Given the description of an element on the screen output the (x, y) to click on. 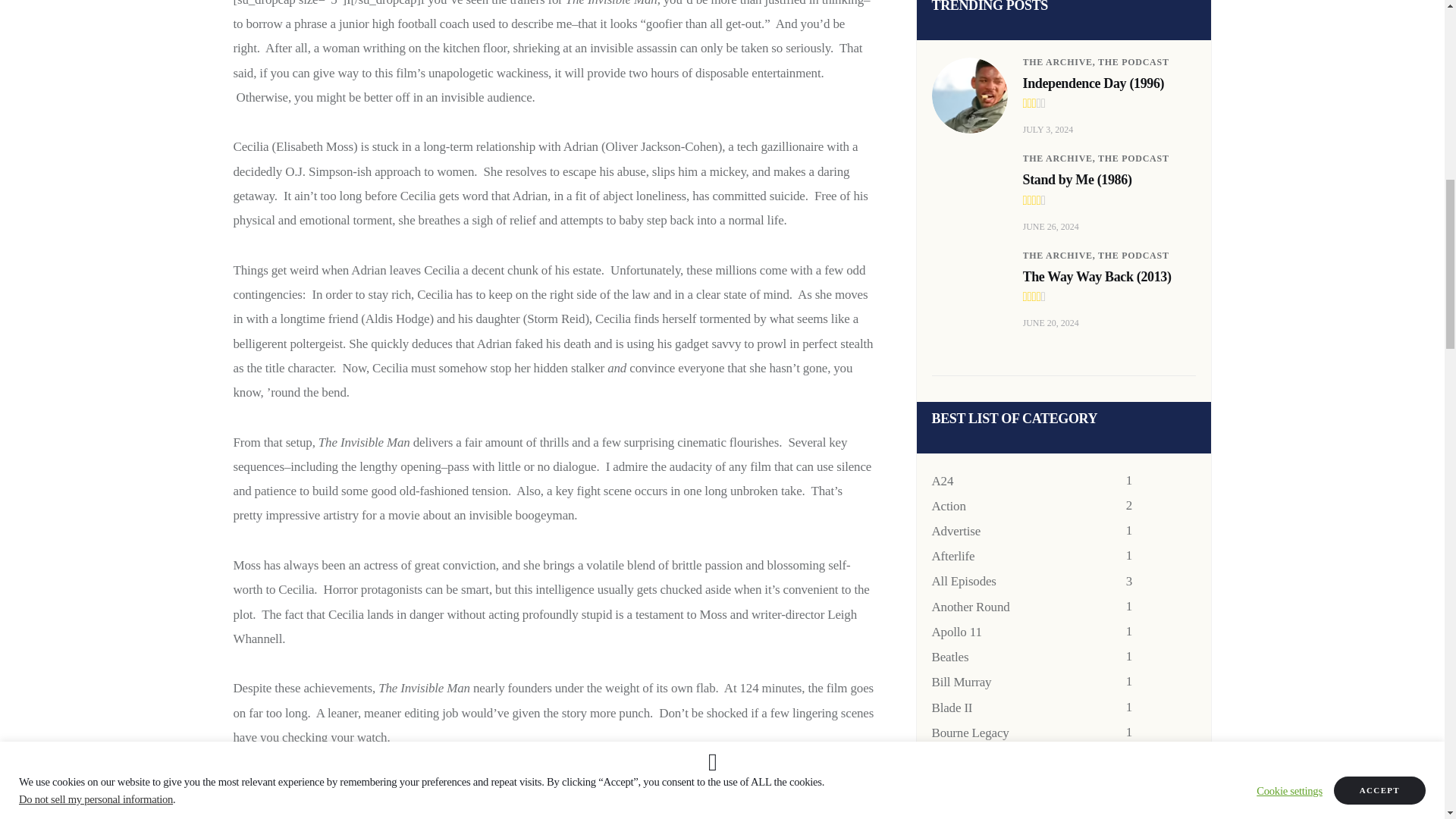
View all posts in The Podcast (1133, 158)
View all posts in The Archive (1059, 158)
View all posts in The Archive (1059, 61)
View all posts in The Archive (1059, 255)
View all posts in The Podcast (1133, 255)
View all posts in The Podcast (1133, 61)
